Given the description of an element on the screen output the (x, y) to click on. 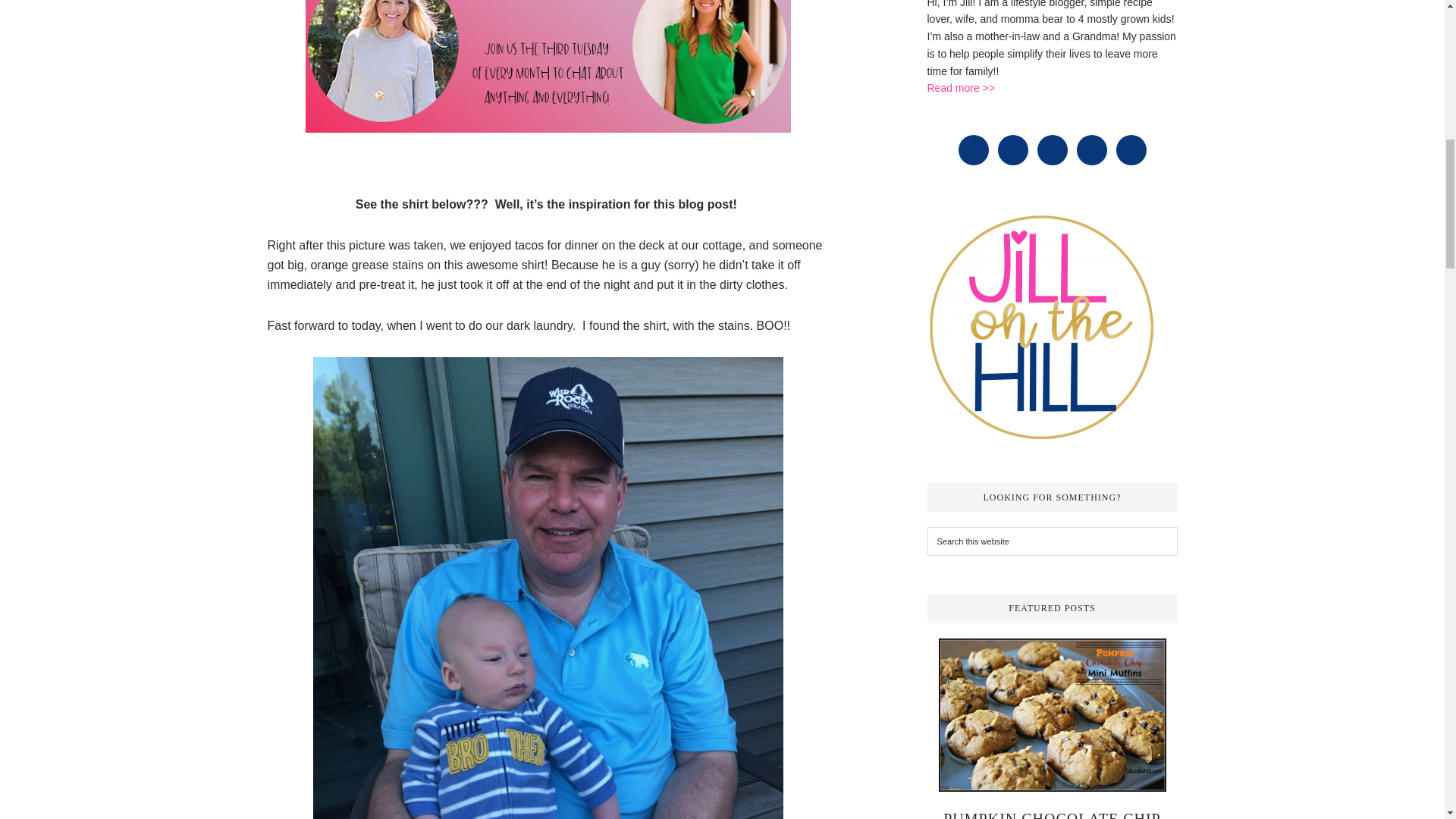
PUMPKIN CHOCOLATE CHIP MINI MUFFINS (1051, 814)
